Given the description of an element on the screen output the (x, y) to click on. 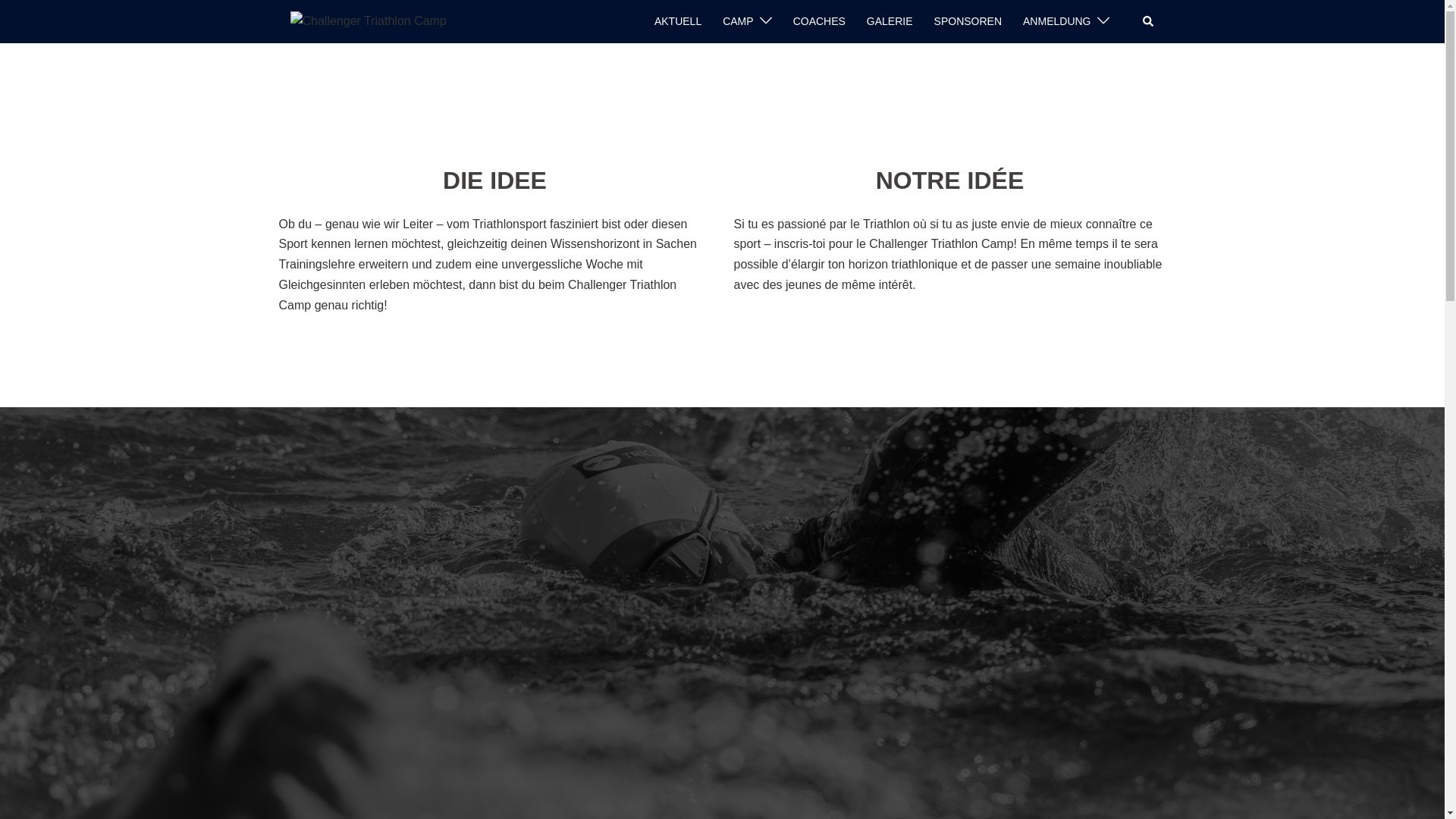
CAMP Element type: text (737, 21)
SPONSOREN Element type: text (967, 21)
GALERIE Element type: text (889, 21)
AKTUELL Element type: text (677, 21)
Suche Element type: text (1148, 21)
Challenger Triathlon Camp Element type: hover (367, 20)
COACHES Element type: text (819, 21)
ANMELDUNG Element type: text (1056, 21)
